Given the description of an element on the screen output the (x, y) to click on. 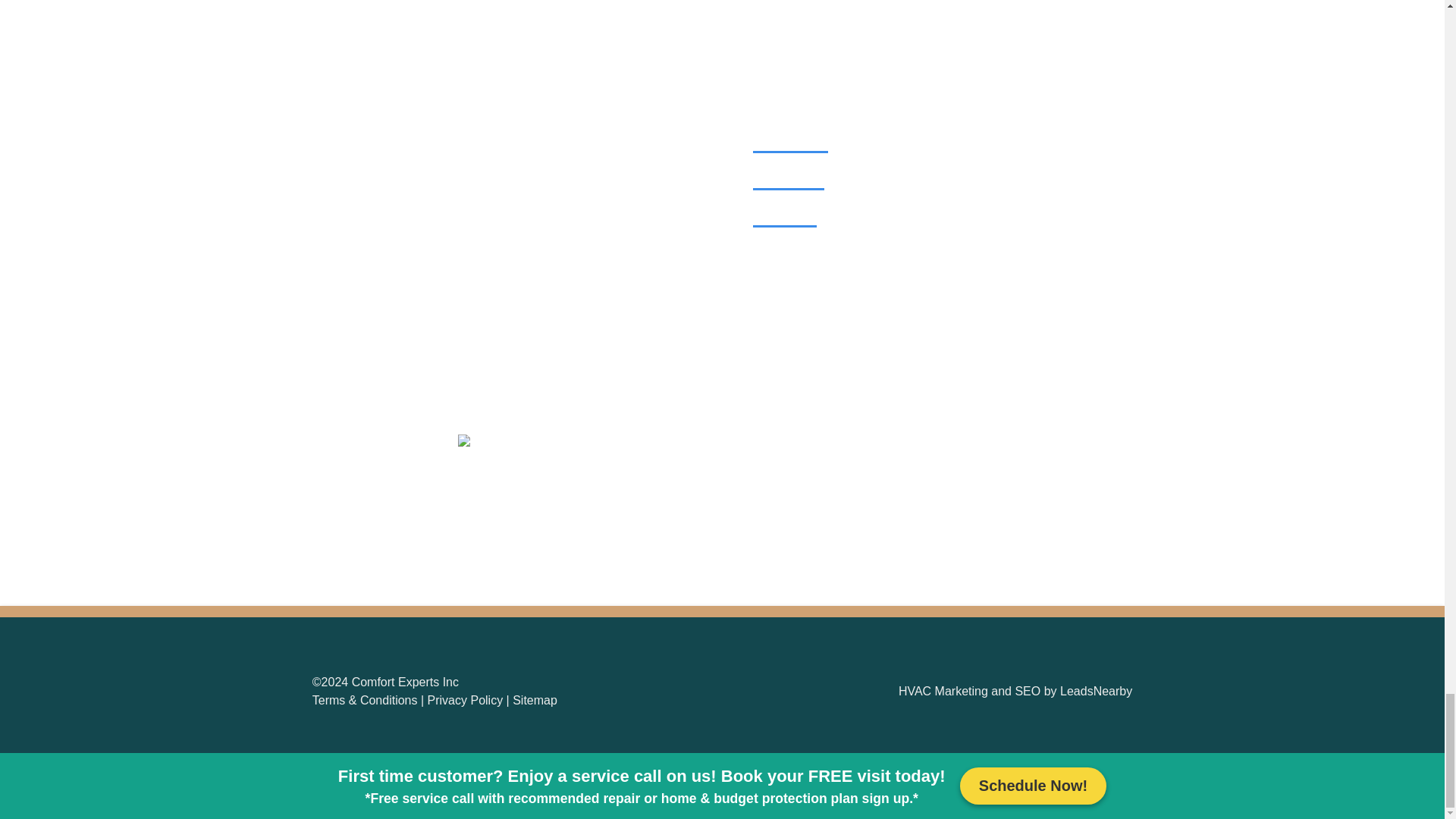
HVAC Marketing and SEO (969, 690)
